Given the description of an element on the screen output the (x, y) to click on. 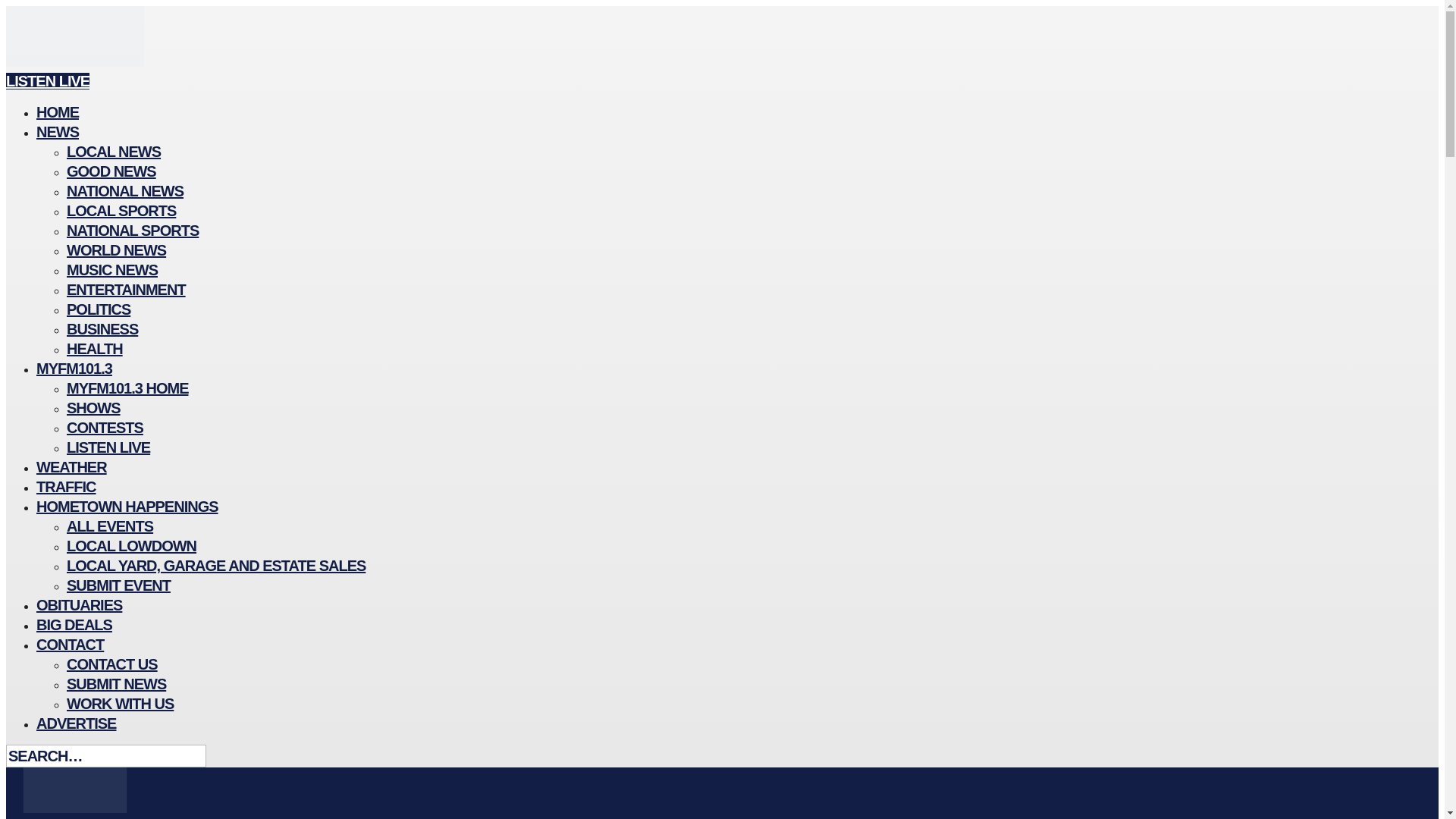
ADVERTISE (76, 722)
WEATHER (71, 466)
LISTEN LIVE (107, 446)
BUSINESS (102, 328)
CONTESTS (104, 427)
MYFM101.3 HOME (126, 387)
HEALTH (94, 348)
HOME (57, 111)
ALL EVENTS (109, 526)
WORK WITH US (119, 703)
NATIONAL NEWS (124, 190)
OBITUARIES (79, 604)
MyFMToday.com (74, 62)
LISTEN LIVE (46, 80)
LOCAL NEWS (113, 151)
